Given the description of an element on the screen output the (x, y) to click on. 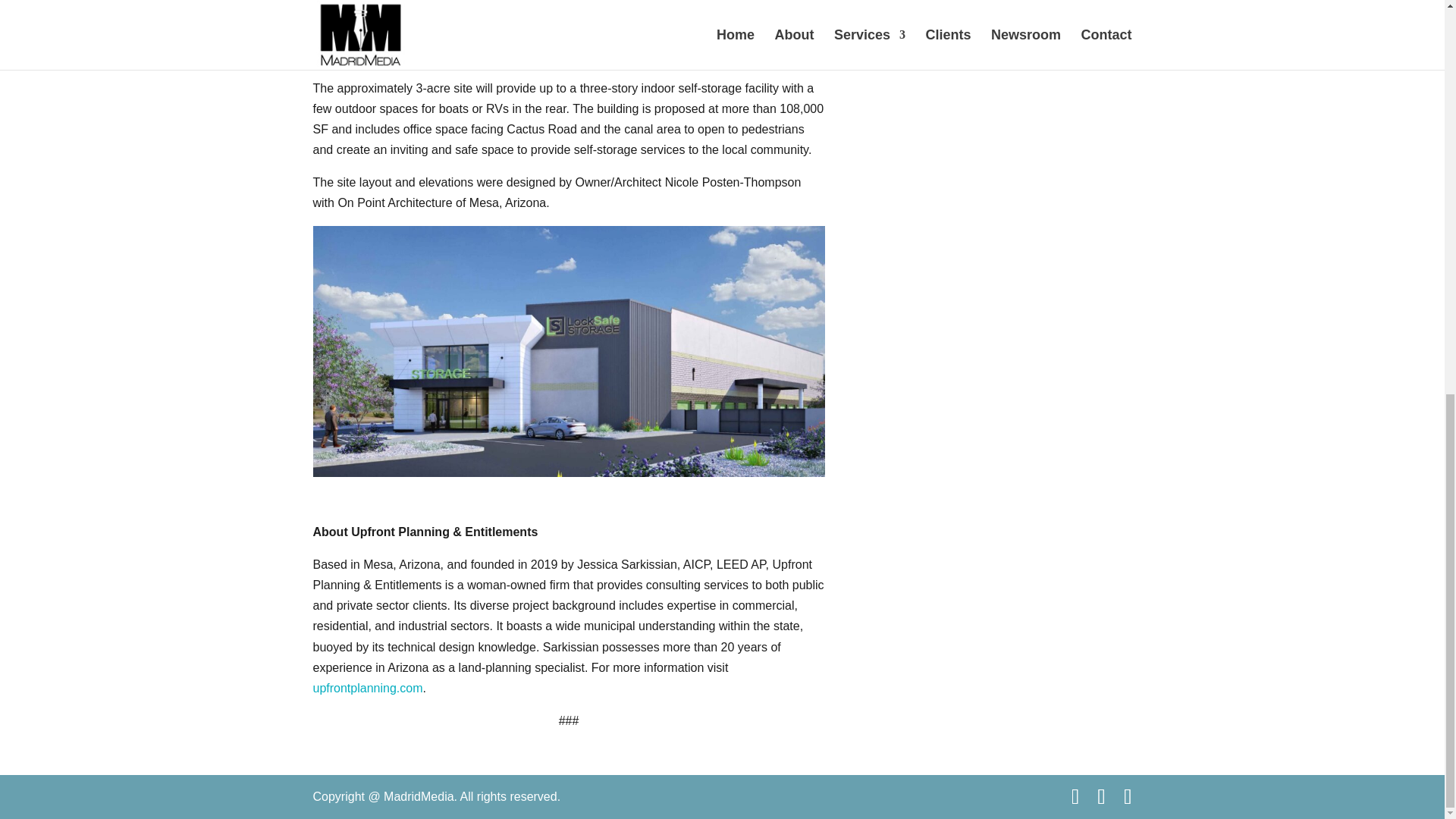
upfrontplanning.com (367, 687)
